Given the description of an element on the screen output the (x, y) to click on. 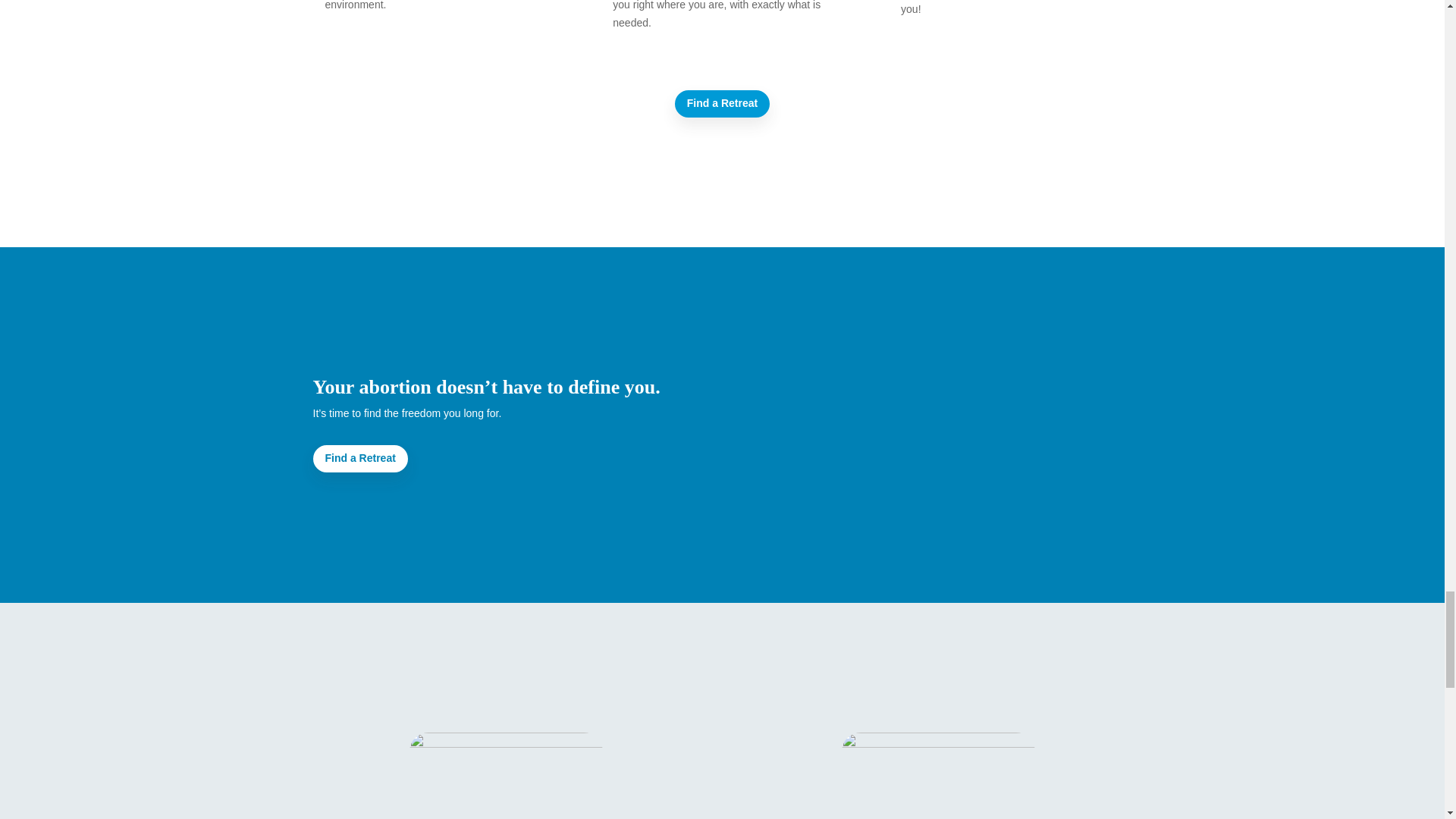
FRONTCOVER (938, 775)
Find a Retreat (360, 458)
Find a Retreat (722, 103)
